Given the description of an element on the screen output the (x, y) to click on. 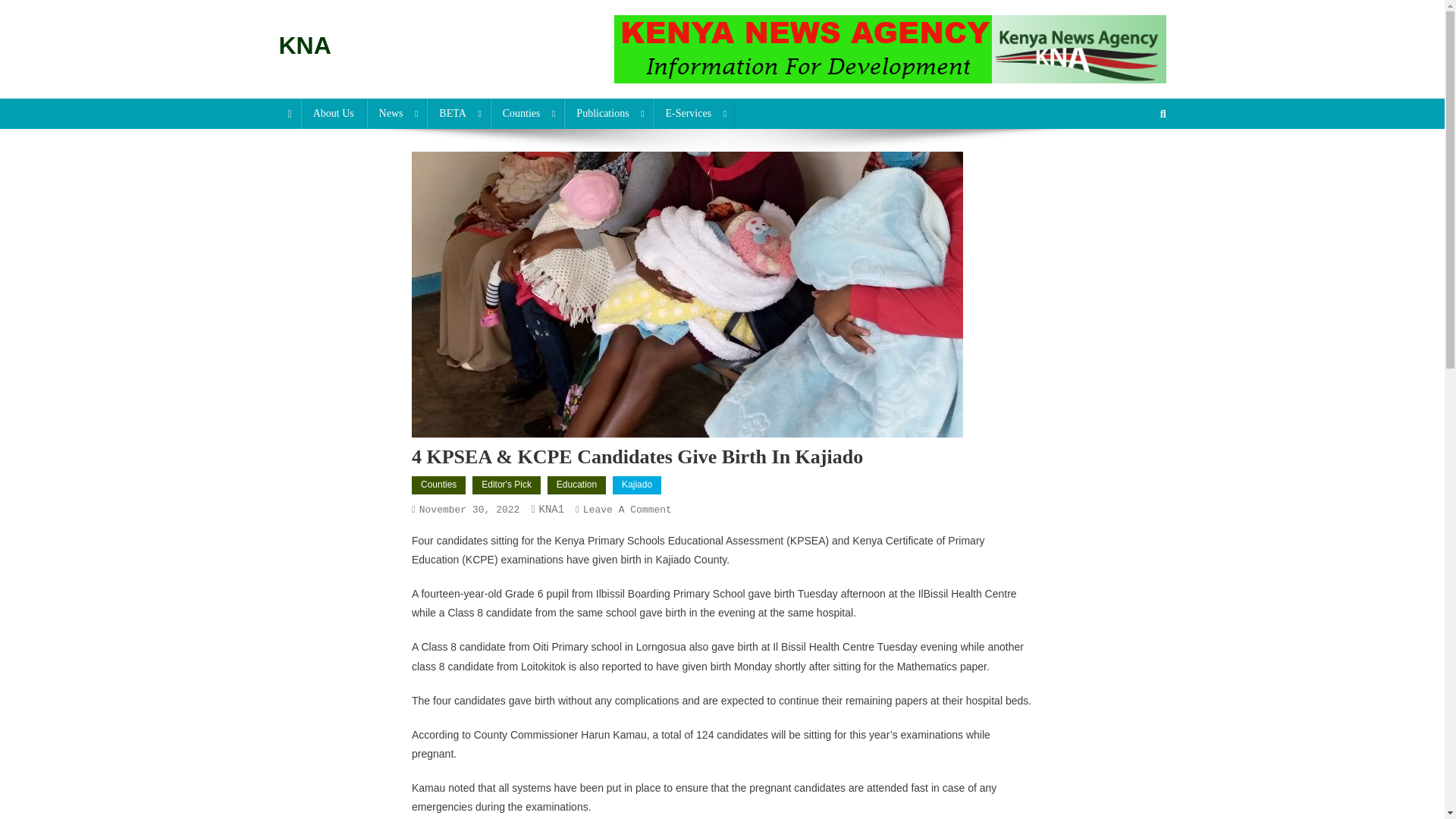
KNA (305, 44)
BETA (457, 113)
About Us (333, 113)
News (396, 113)
Counties (527, 113)
